Given the description of an element on the screen output the (x, y) to click on. 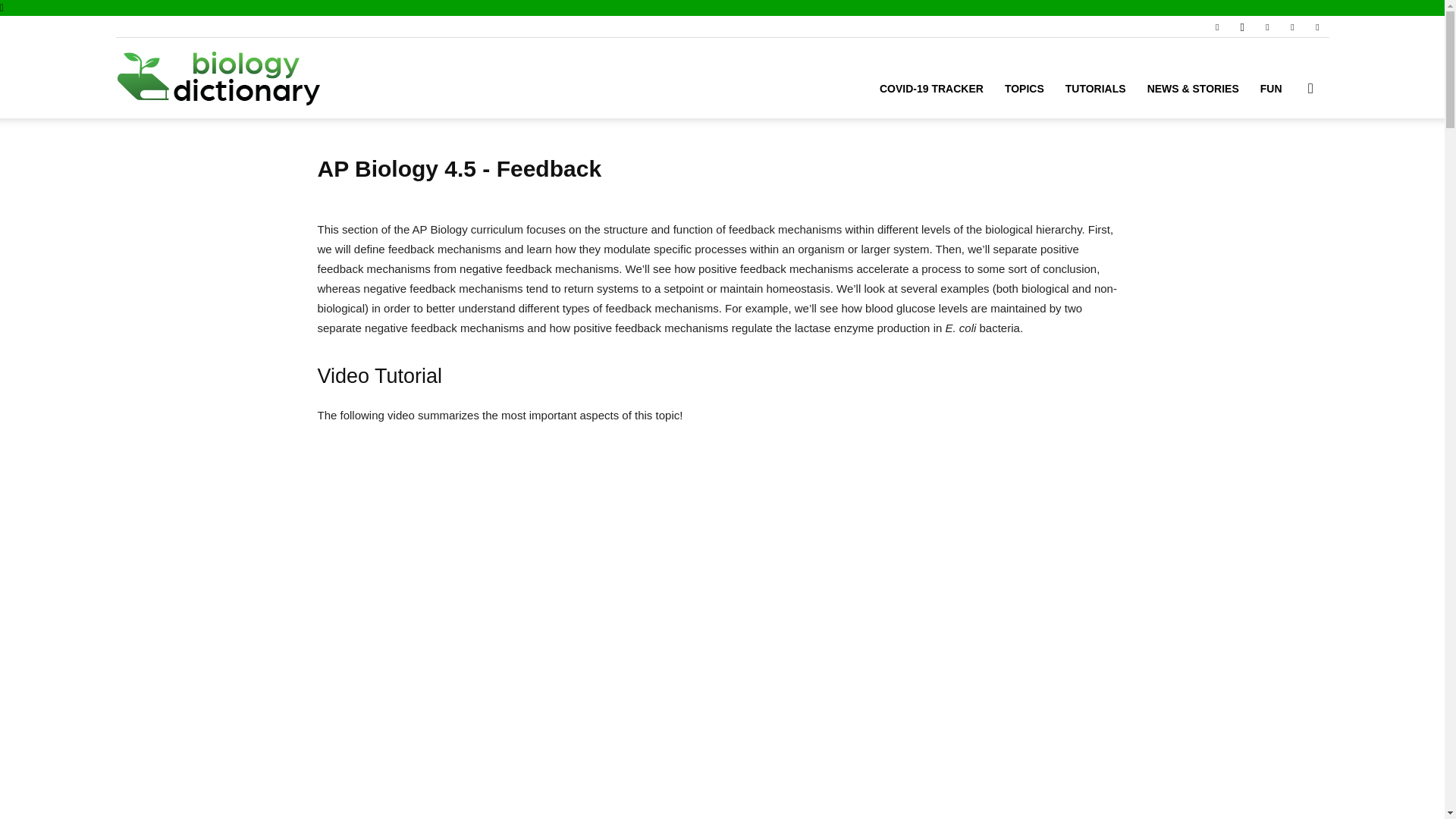
Instagram (1241, 25)
Biology Dictionary (218, 78)
Youtube (1316, 25)
Twitter (1292, 25)
Linkedin (1266, 25)
Facebook (1216, 25)
